Given the description of an element on the screen output the (x, y) to click on. 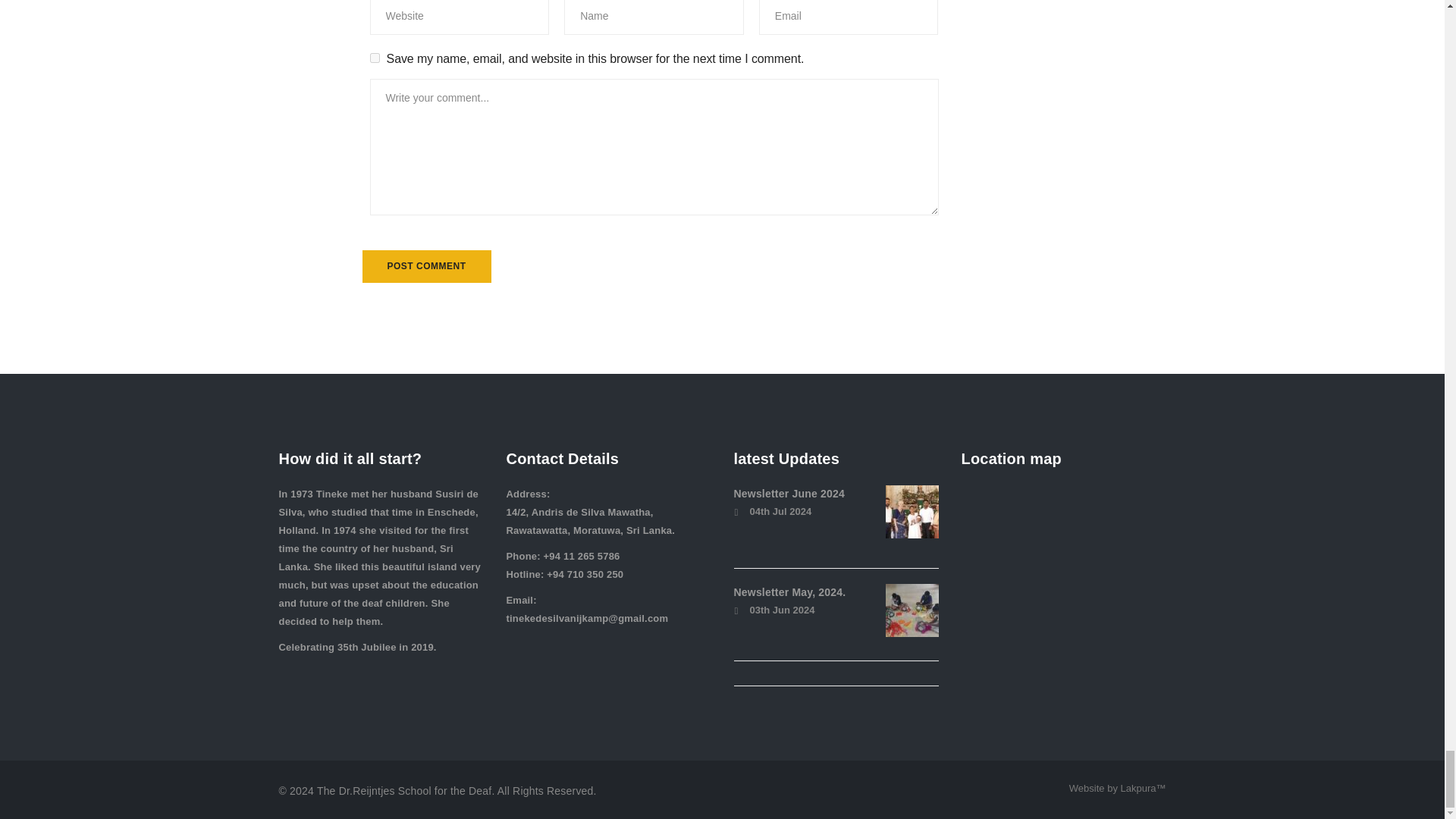
Post Comment (427, 266)
yes (374, 58)
